Given the description of an element on the screen output the (x, y) to click on. 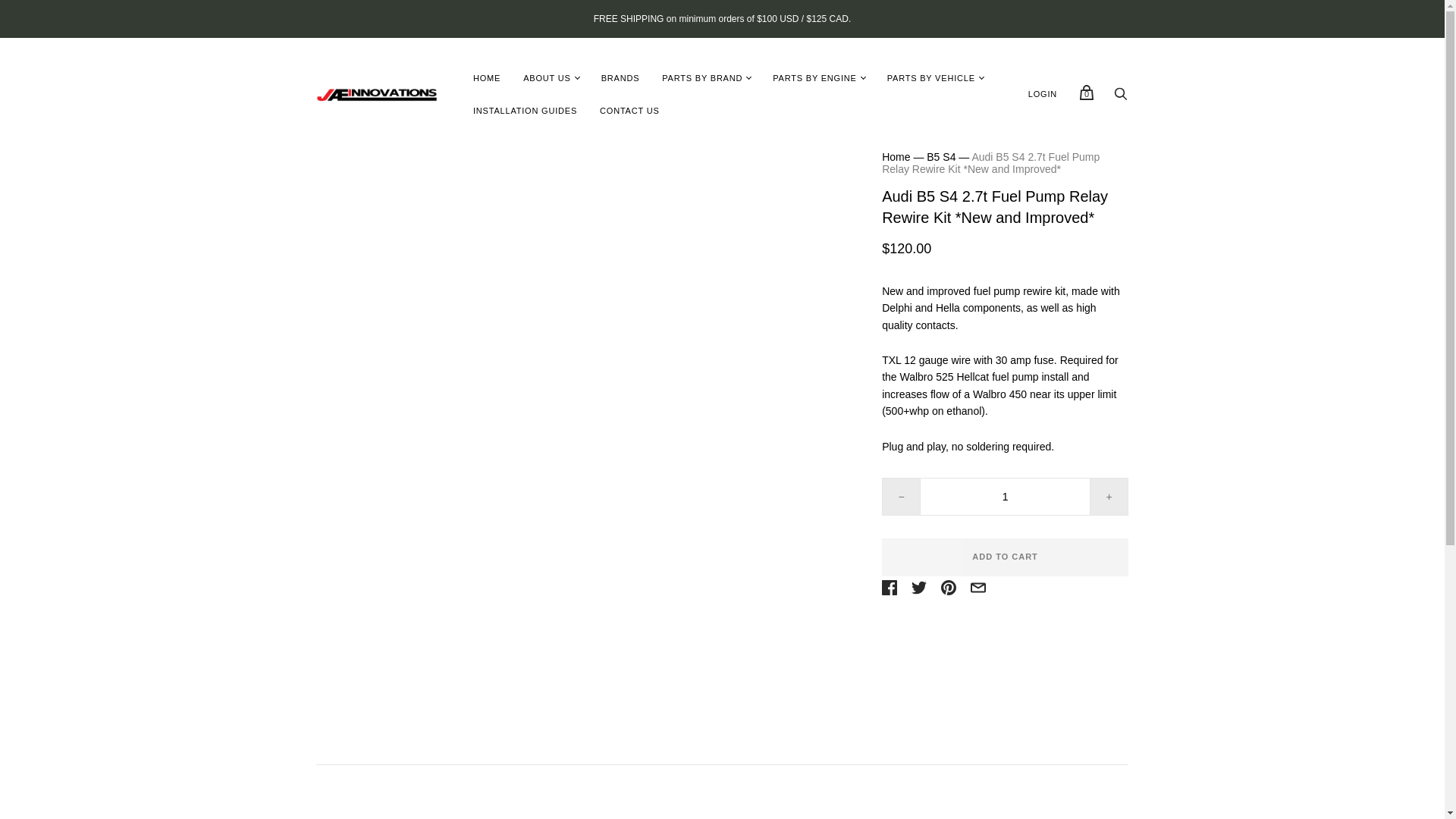
PARTS BY ENGINE (814, 78)
1 (1005, 496)
HOME (486, 78)
PARTS BY BRAND (702, 78)
ABOUT US (546, 78)
Home (896, 156)
PARTS BY VEHICLE (931, 78)
BRANDS (619, 78)
